Given the description of an element on the screen output the (x, y) to click on. 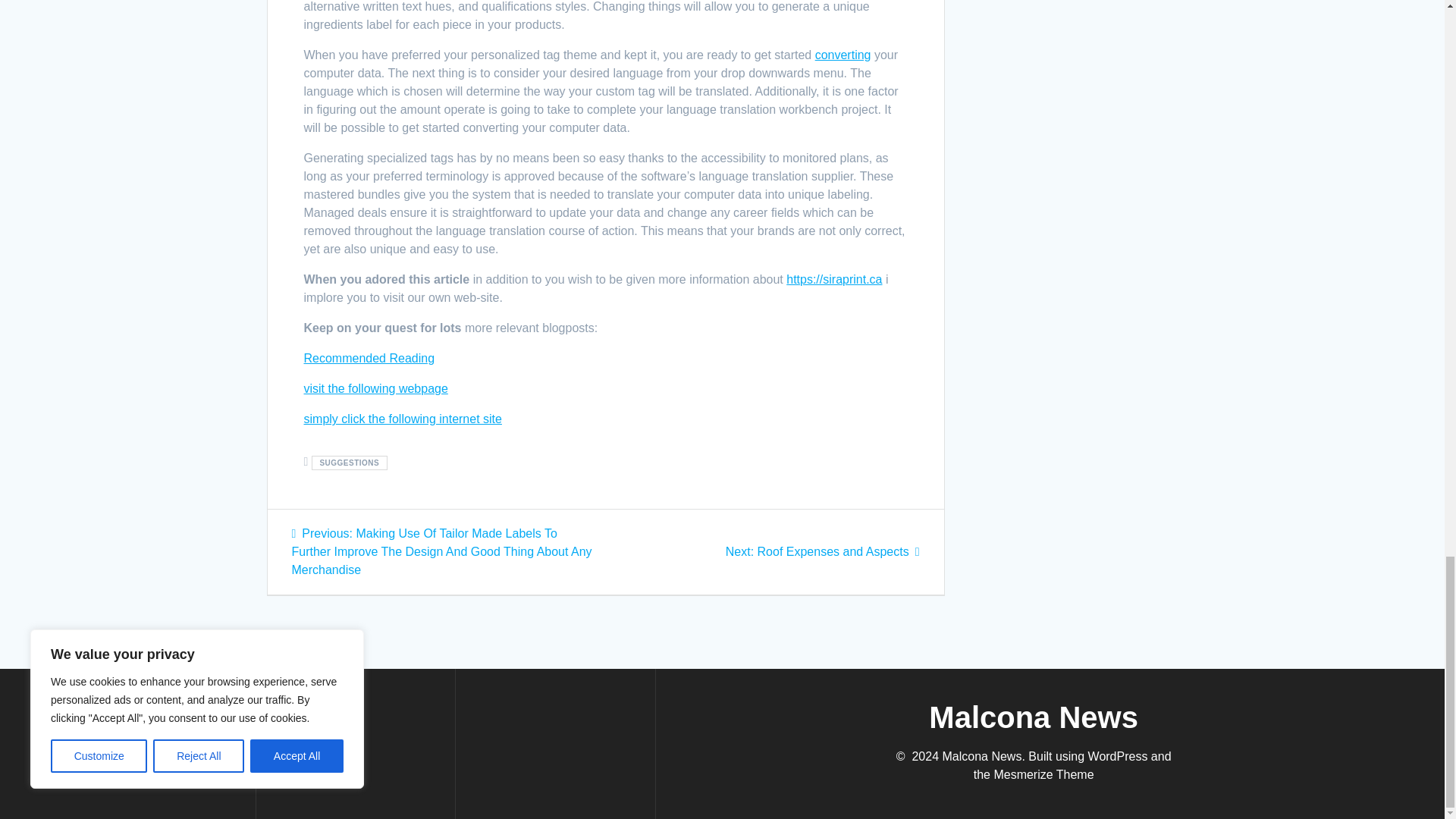
visit the following webpage (374, 388)
simply click the following internet site (822, 551)
Recommended Reading (401, 418)
SUGGESTIONS (367, 358)
converting (349, 462)
